Given the description of an element on the screen output the (x, y) to click on. 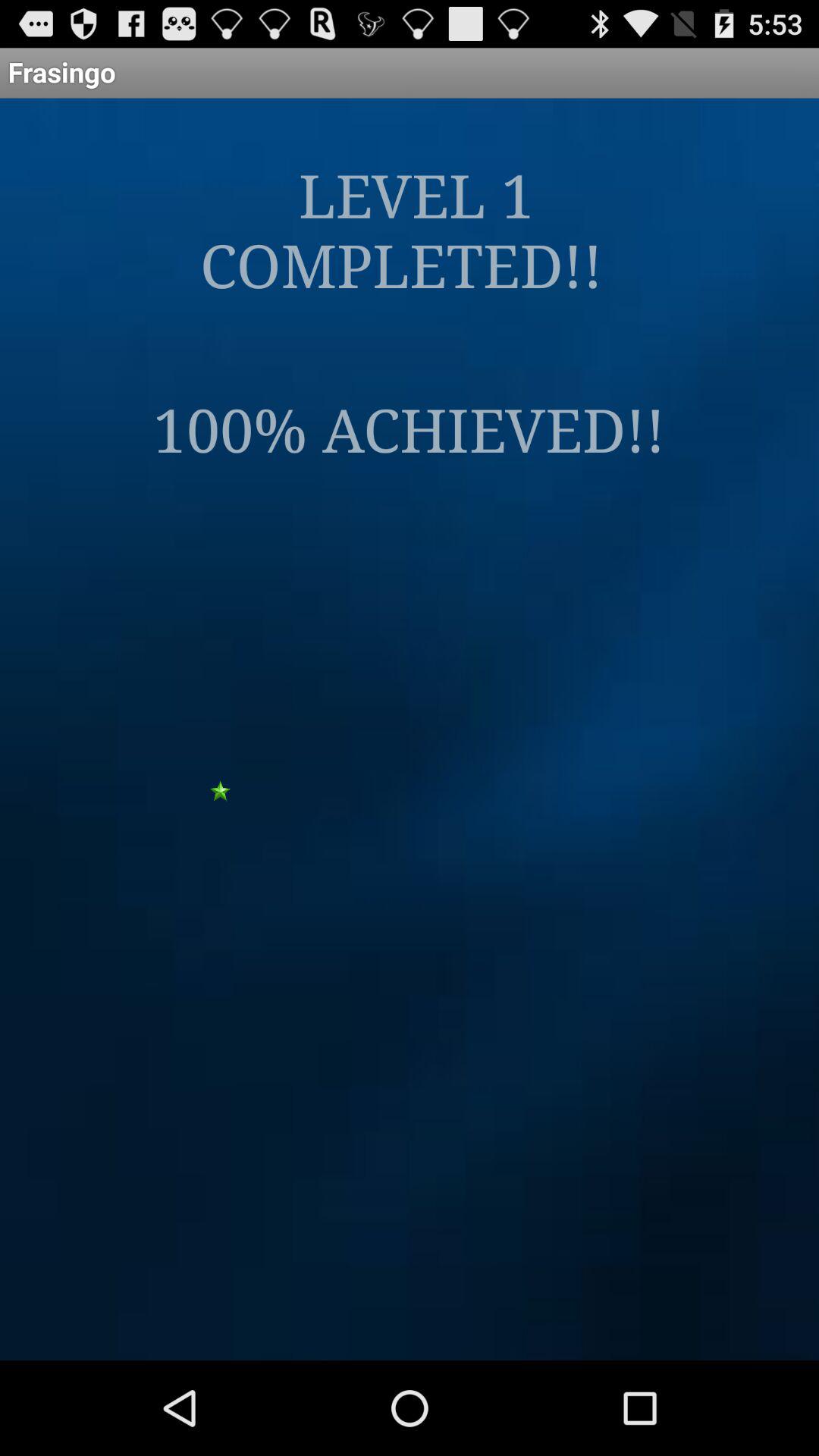
turn off 100% achieved!!  icon (408, 427)
